Given the description of an element on the screen output the (x, y) to click on. 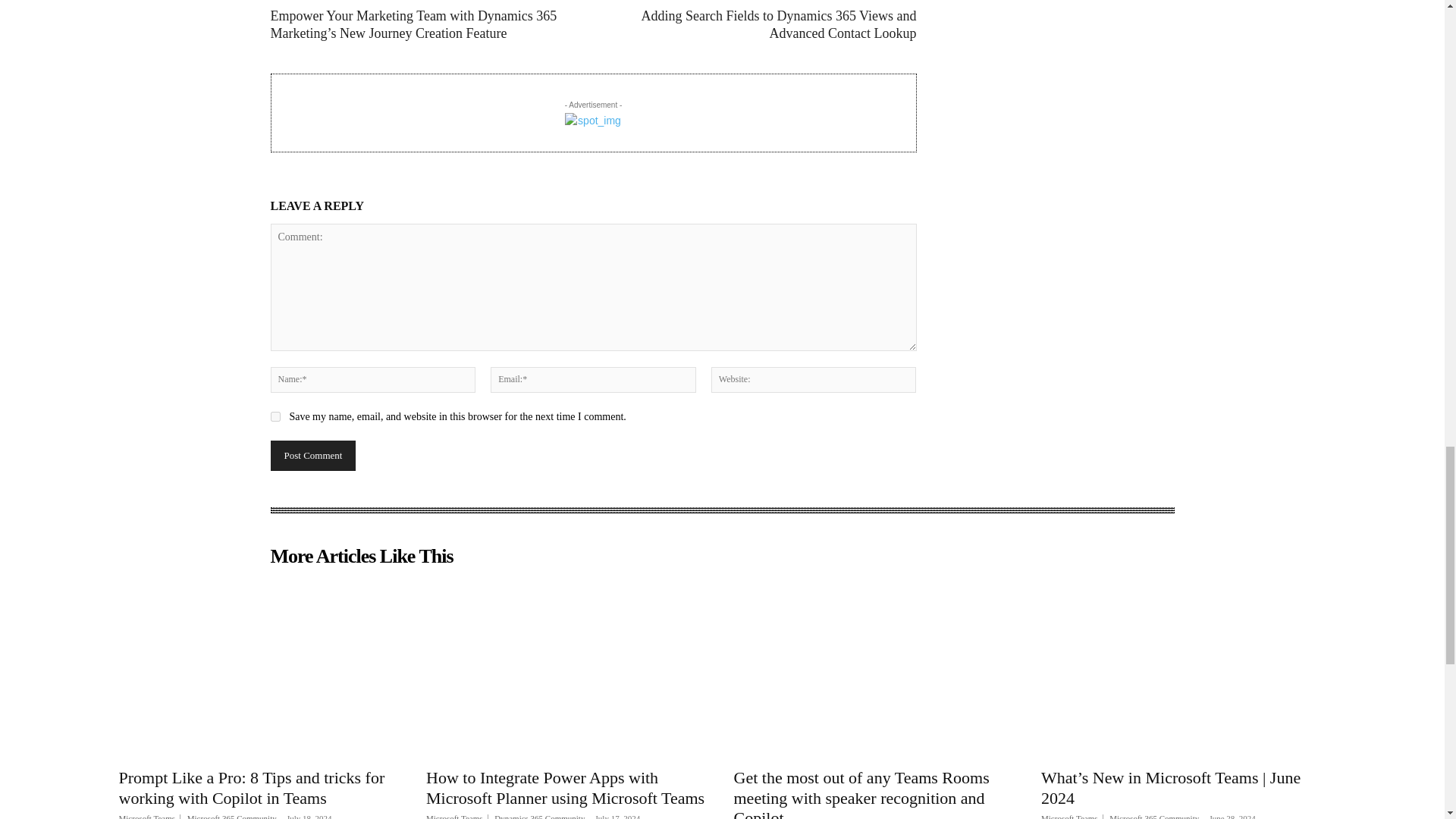
Post Comment (312, 455)
yes (274, 416)
